Given the description of an element on the screen output the (x, y) to click on. 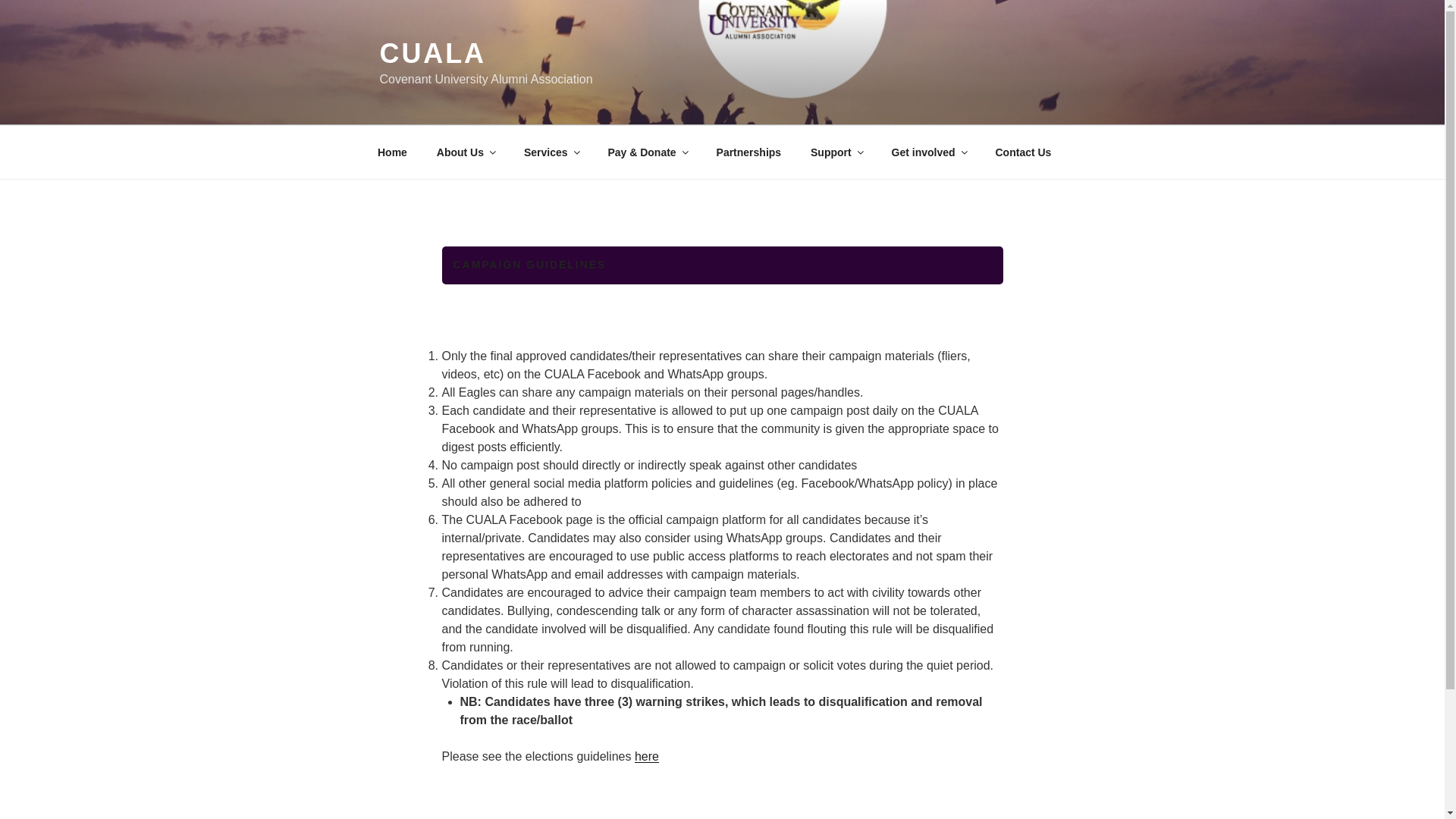
Home (392, 151)
Support (836, 151)
Services (551, 151)
Partnerships (748, 151)
About Us (464, 151)
CUALA (431, 52)
